Given the description of an element on the screen output the (x, y) to click on. 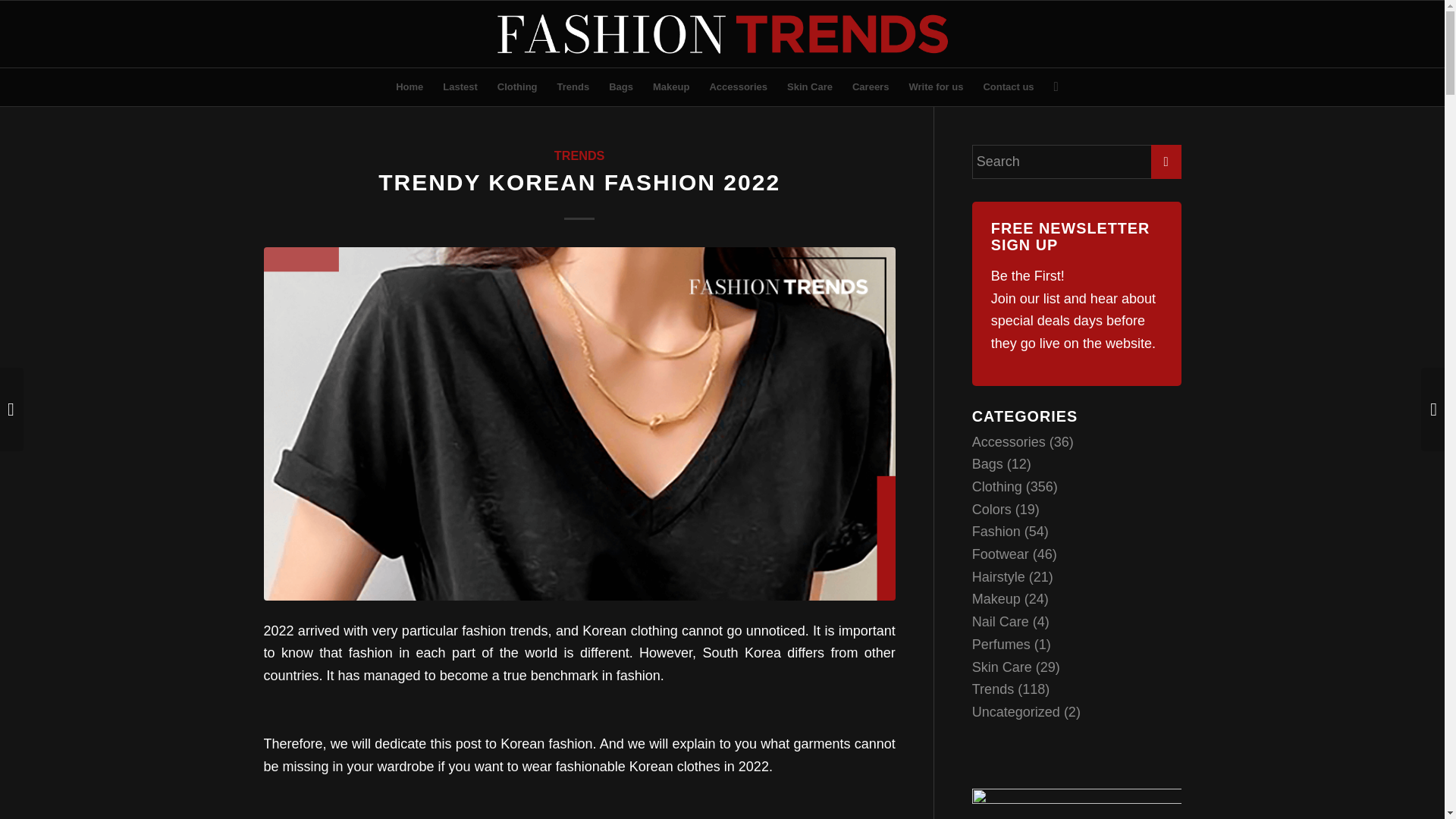
Careers (870, 86)
Home (408, 86)
Trends (573, 86)
Makeup (670, 86)
Lastest (459, 86)
TRENDS (579, 155)
Clothing (517, 86)
Bags (620, 86)
FashionTrends-Logo-Original-Negative-Horizontal-1 (722, 33)
Accessories (1008, 441)
